Given the description of an element on the screen output the (x, y) to click on. 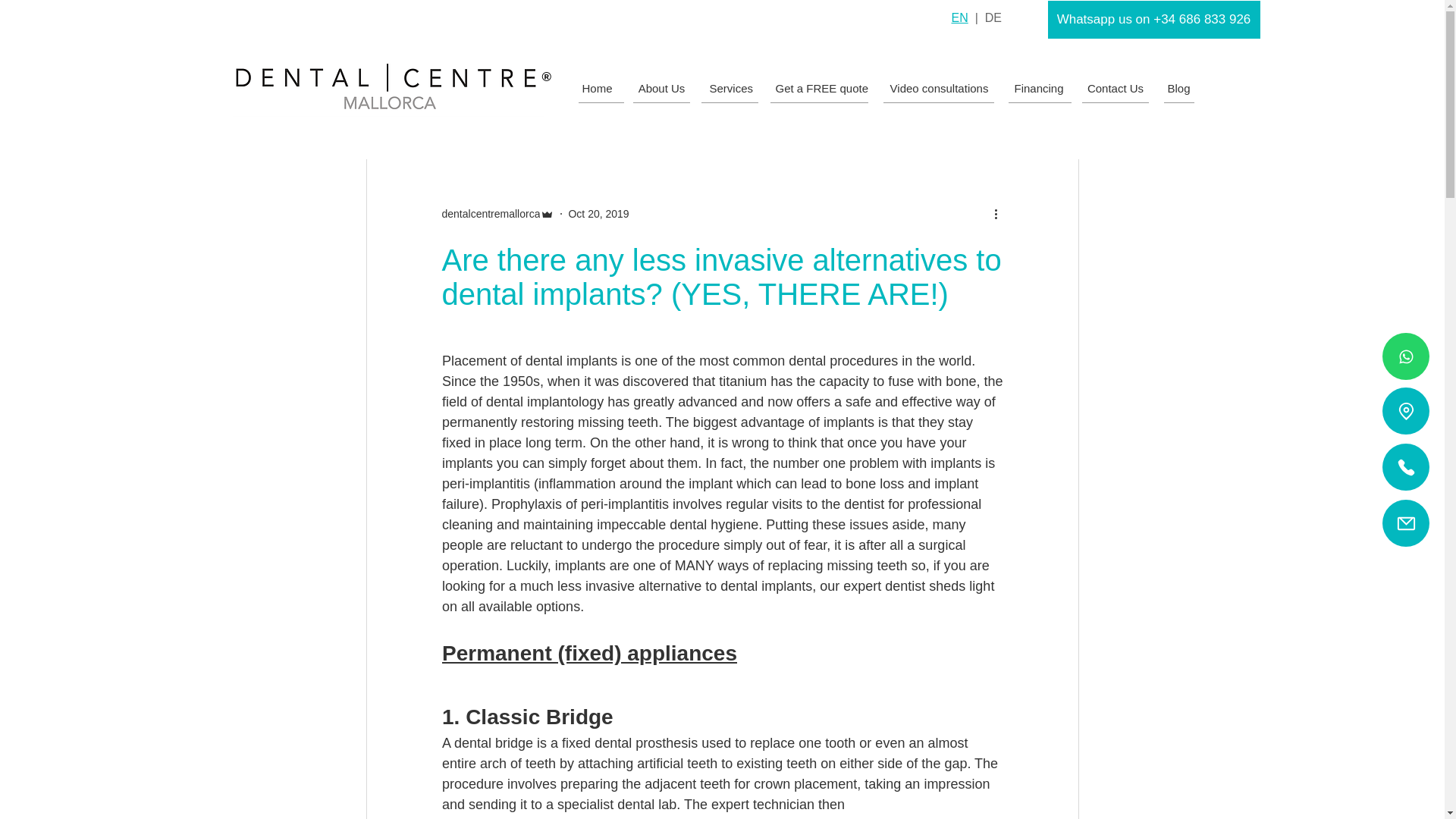
Services (729, 88)
DE (993, 17)
Home (596, 88)
Video consultations (939, 88)
Financing (1039, 88)
Blog (1179, 88)
Oct 20, 2019 (597, 214)
Contact Us (1114, 88)
About Us (660, 88)
dentalcentremallorca (490, 213)
Get a FREE quote (820, 88)
